Given the description of an element on the screen output the (x, y) to click on. 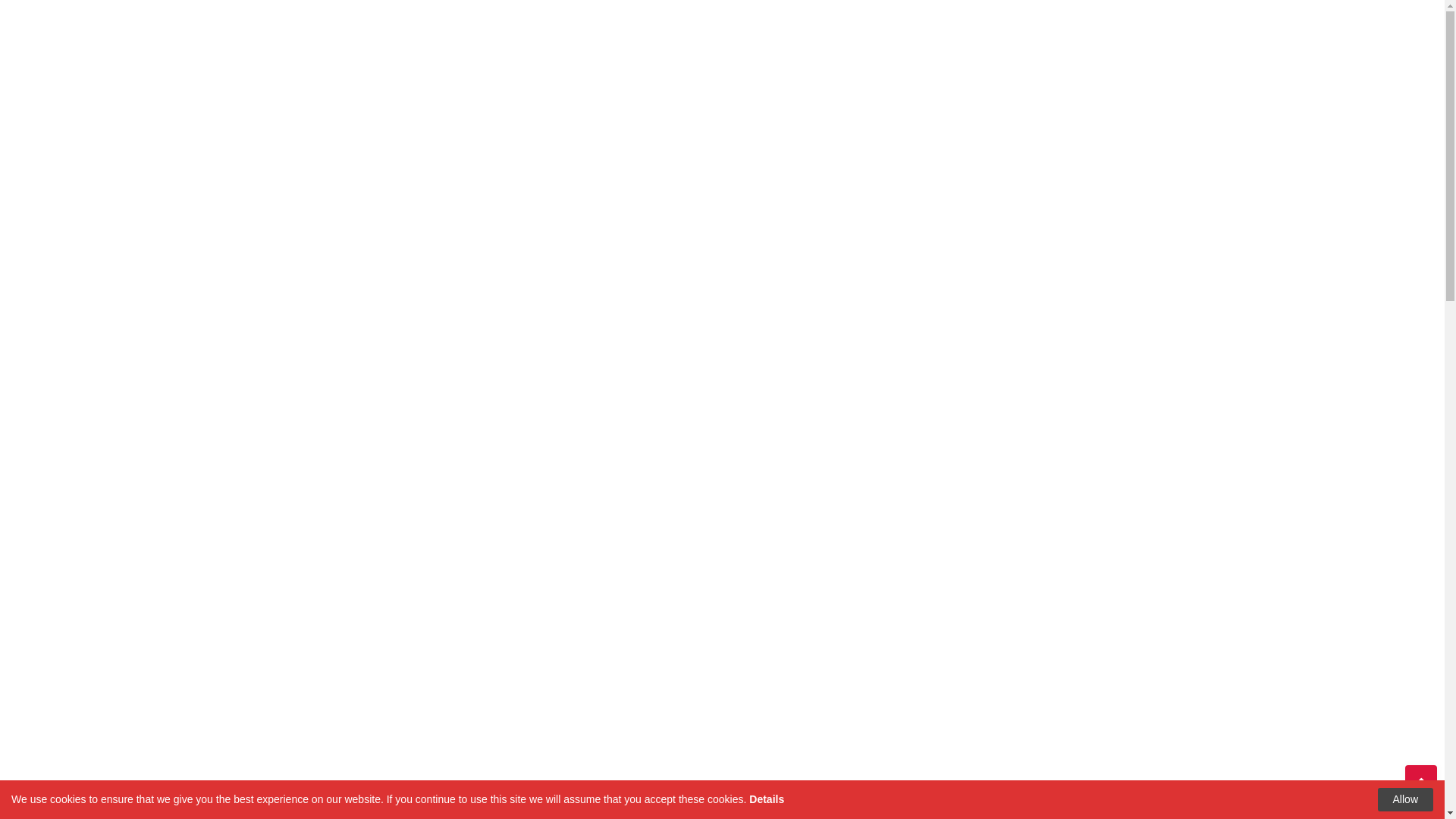
Details Element type: text (766, 799)
